Given the description of an element on the screen output the (x, y) to click on. 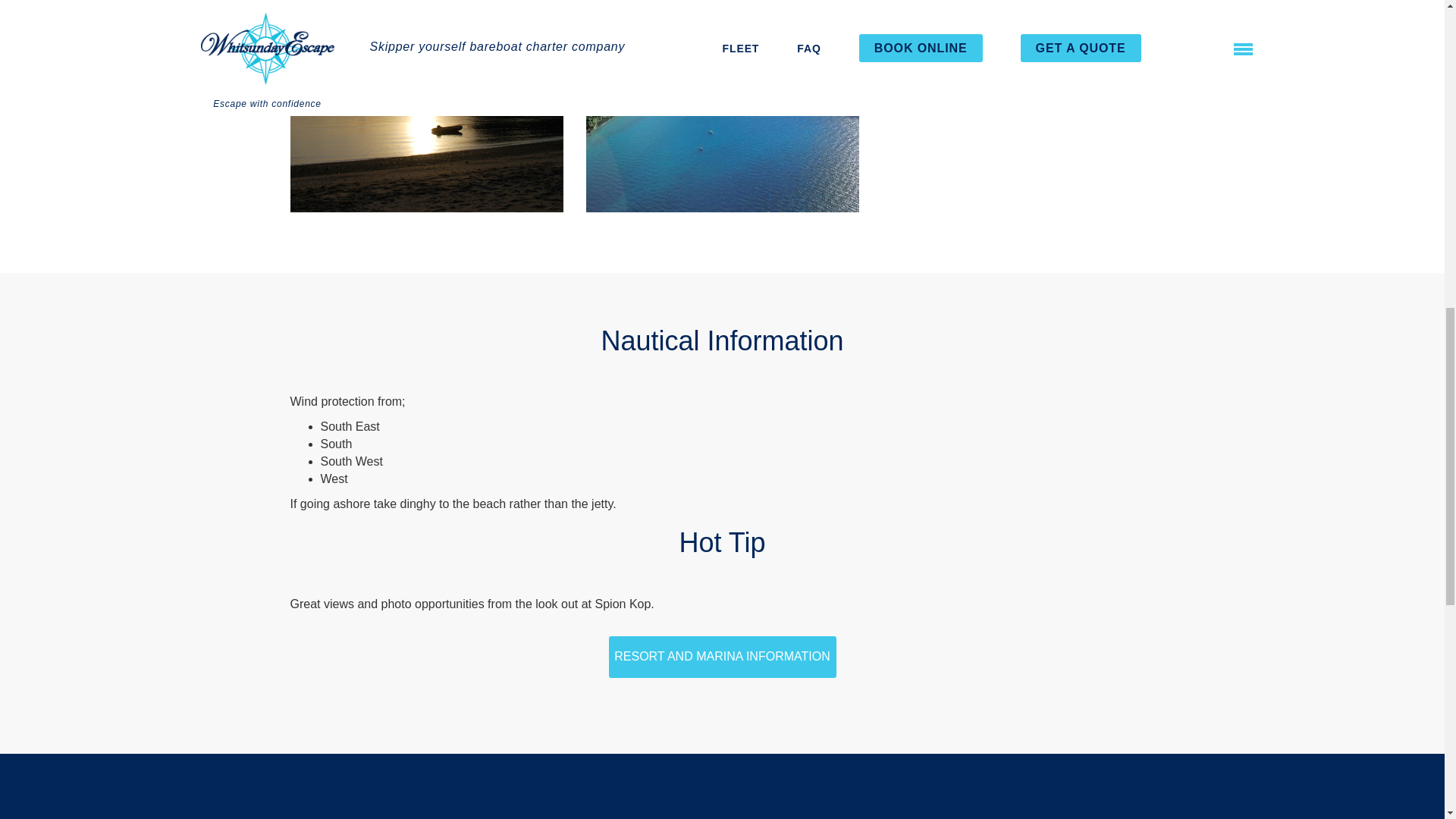
RESORT AND MARINA INFORMATION (721, 656)
